Given the description of an element on the screen output the (x, y) to click on. 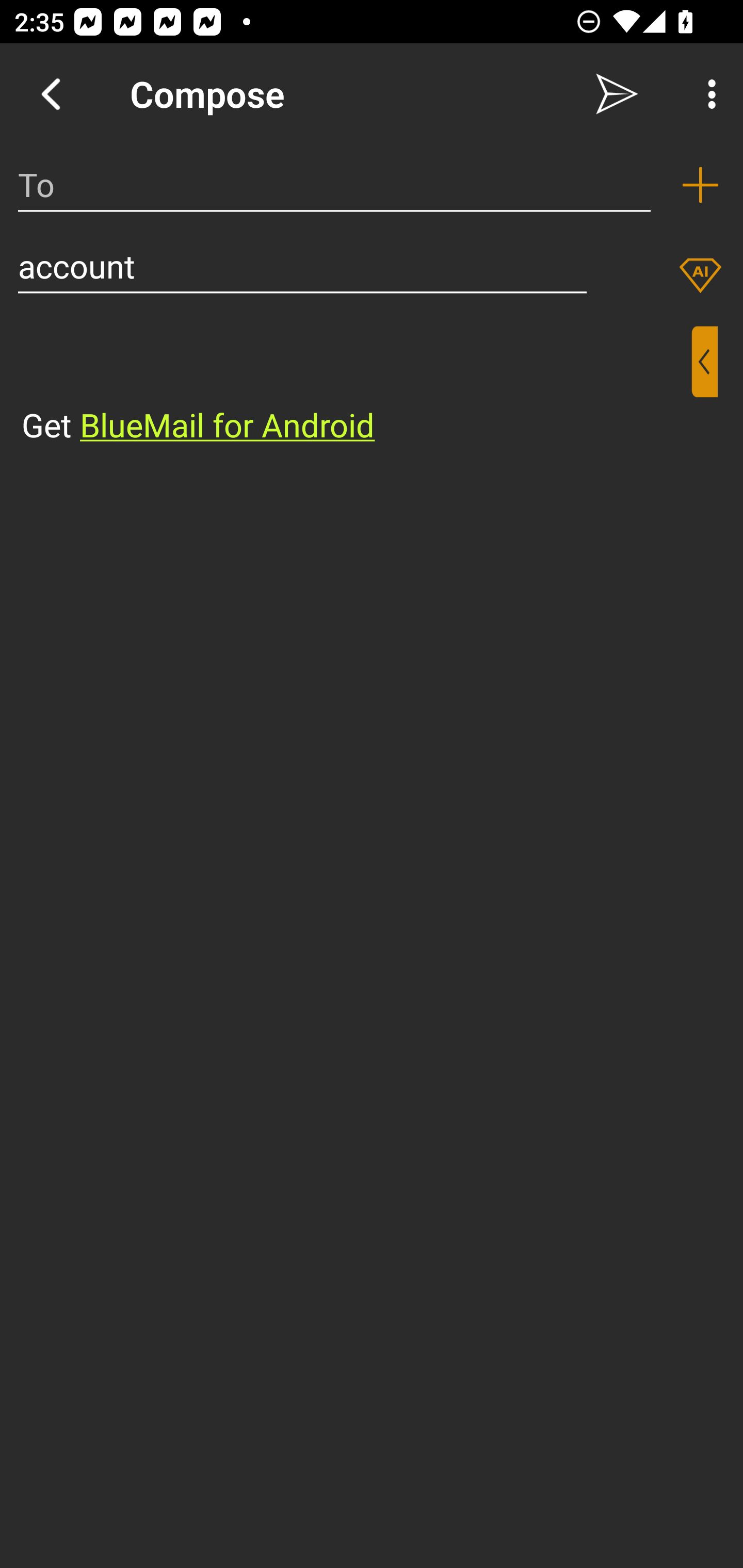
Navigate up (50, 93)
Send (616, 93)
More Options (706, 93)
To (334, 184)
Add recipient (To) (699, 184)
account (302, 266)


⁣Get BlueMail for Android ​ (355, 386)
